Given the description of an element on the screen output the (x, y) to click on. 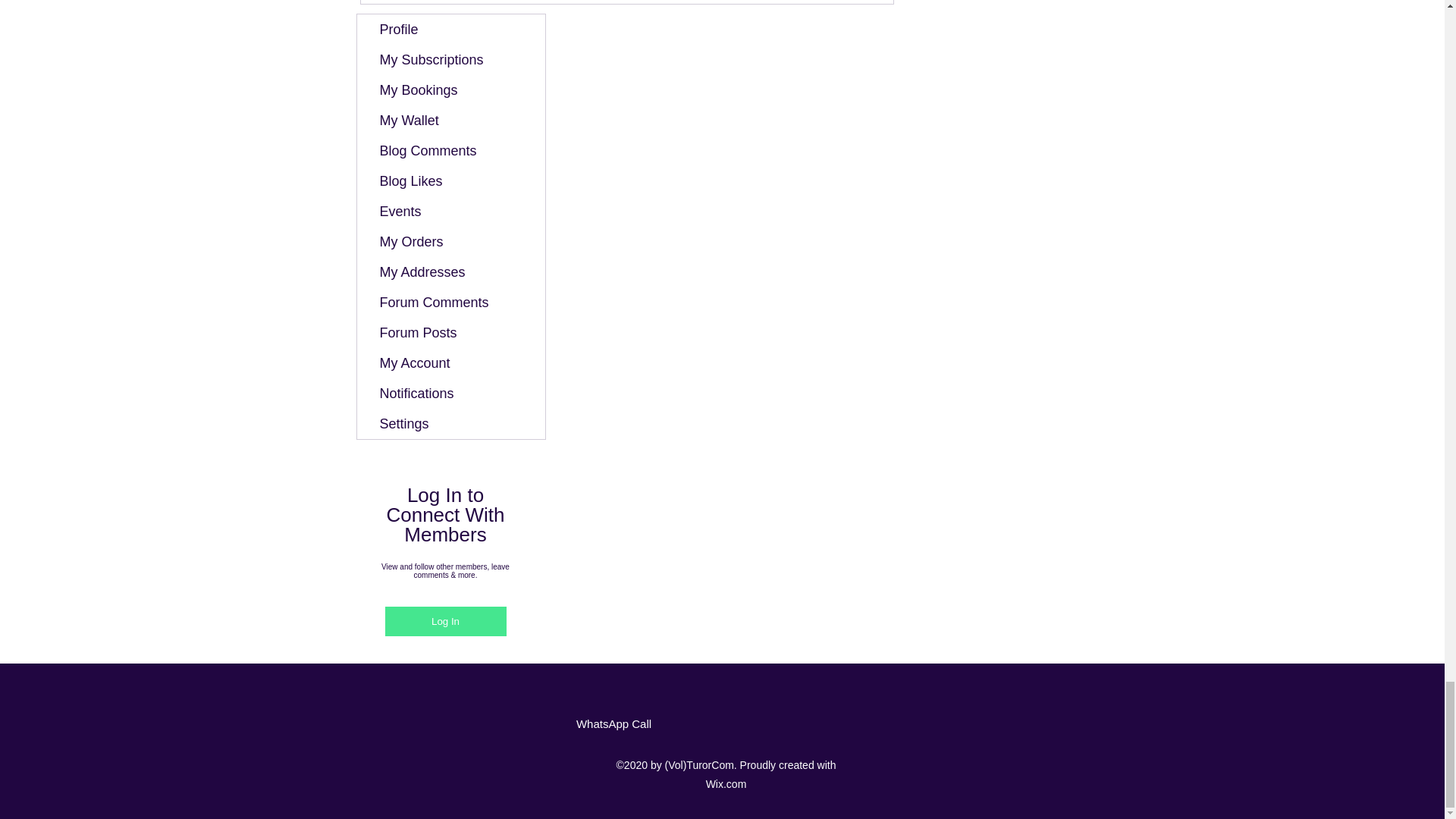
My Bookings (450, 90)
Blog Likes (450, 181)
My Wallet (450, 120)
Profile (450, 29)
Blog Comments (450, 150)
My Subscriptions (450, 60)
